Given the description of an element on the screen output the (x, y) to click on. 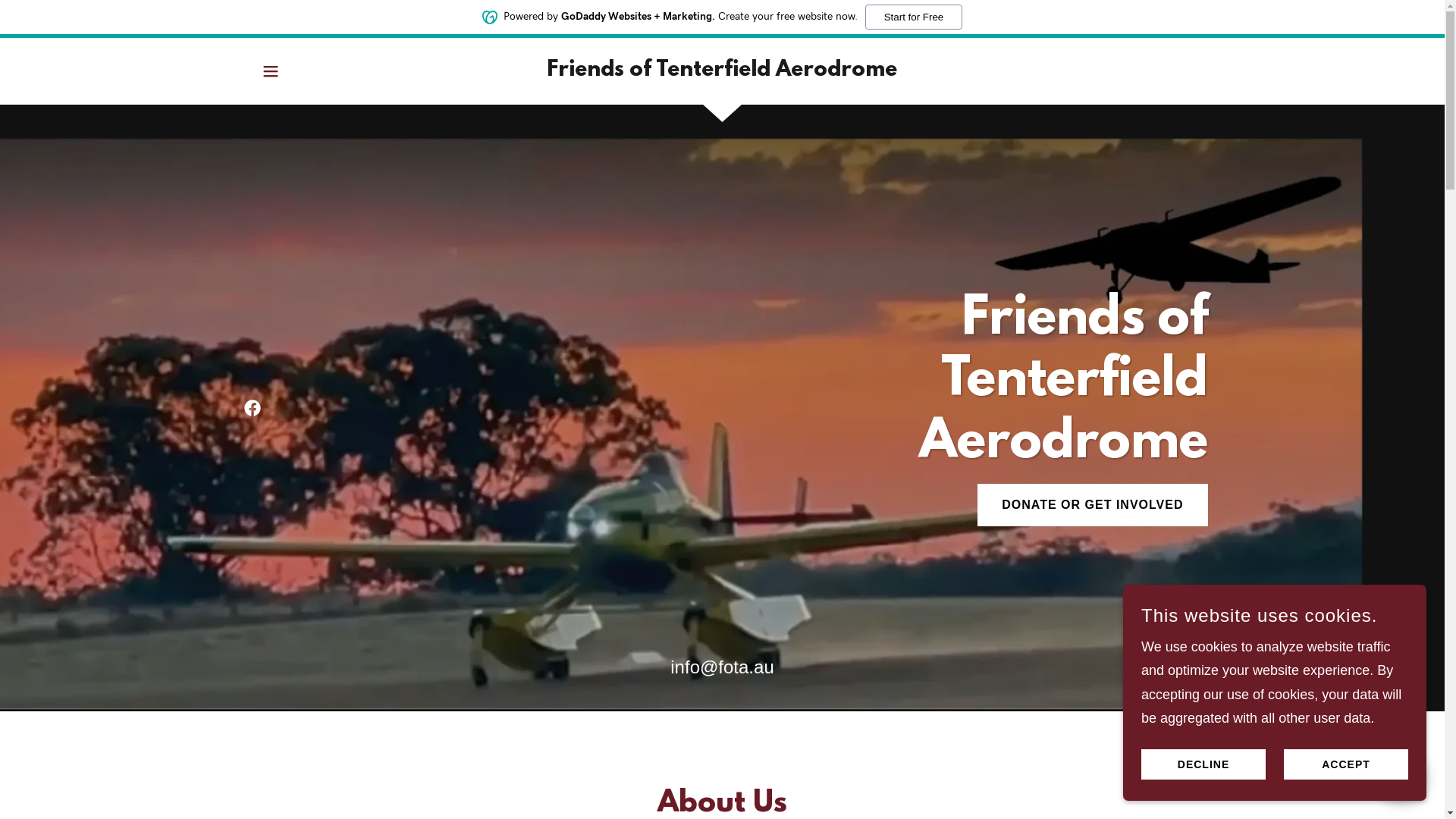
info@fota.au Element type: text (721, 666)
DONATE OR GET INVOLVED Element type: text (1092, 504)
DECLINE Element type: text (1203, 764)
Friends of Tenterfield Aerodrome Element type: text (721, 70)
Start for Free Element type: text (914, 16)
ACCEPT Element type: text (1345, 764)
